Given the description of an element on the screen output the (x, y) to click on. 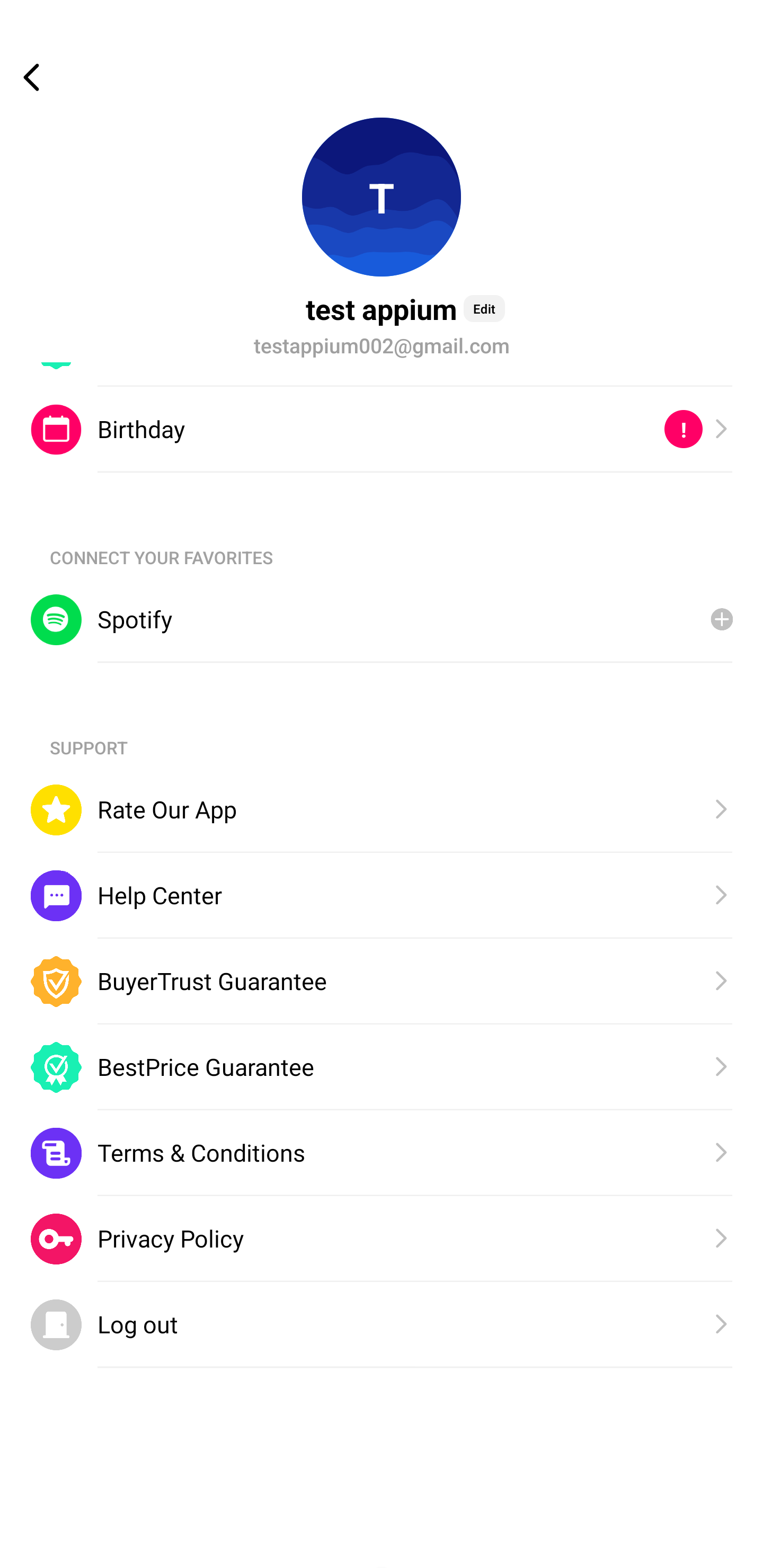
T (381, 196)
Edit (484, 307)
Birthday,   , ! Birthday    ! (381, 429)
Spotify,    Spotify    (381, 620)
Rate Our App,    Rate Our App    (381, 809)
Help Center,    Help Center    (381, 895)
BuyerTrust Guarantee,    BuyerTrust Guarantee    (381, 981)
BestPrice Guarantee,    BestPrice Guarantee    (381, 1066)
Terms & Conditions,    Terms & Conditions    (381, 1153)
Privacy Policy,    Privacy Policy    (381, 1239)
Log out,    Log out    (381, 1324)
